Given the description of an element on the screen output the (x, y) to click on. 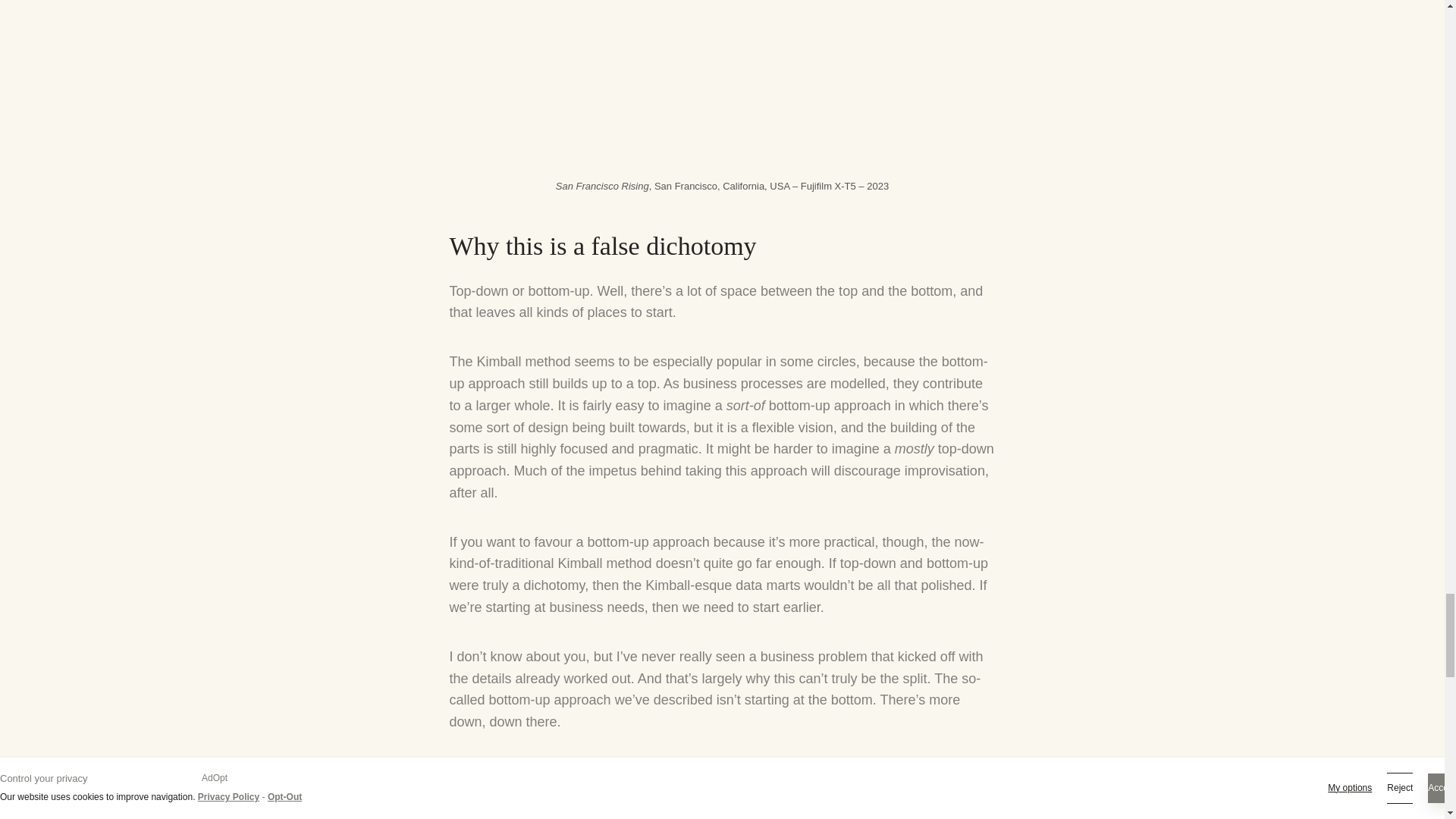
Data in a vault at the bottom of a lake (753, 770)
